Given the description of an element on the screen output the (x, y) to click on. 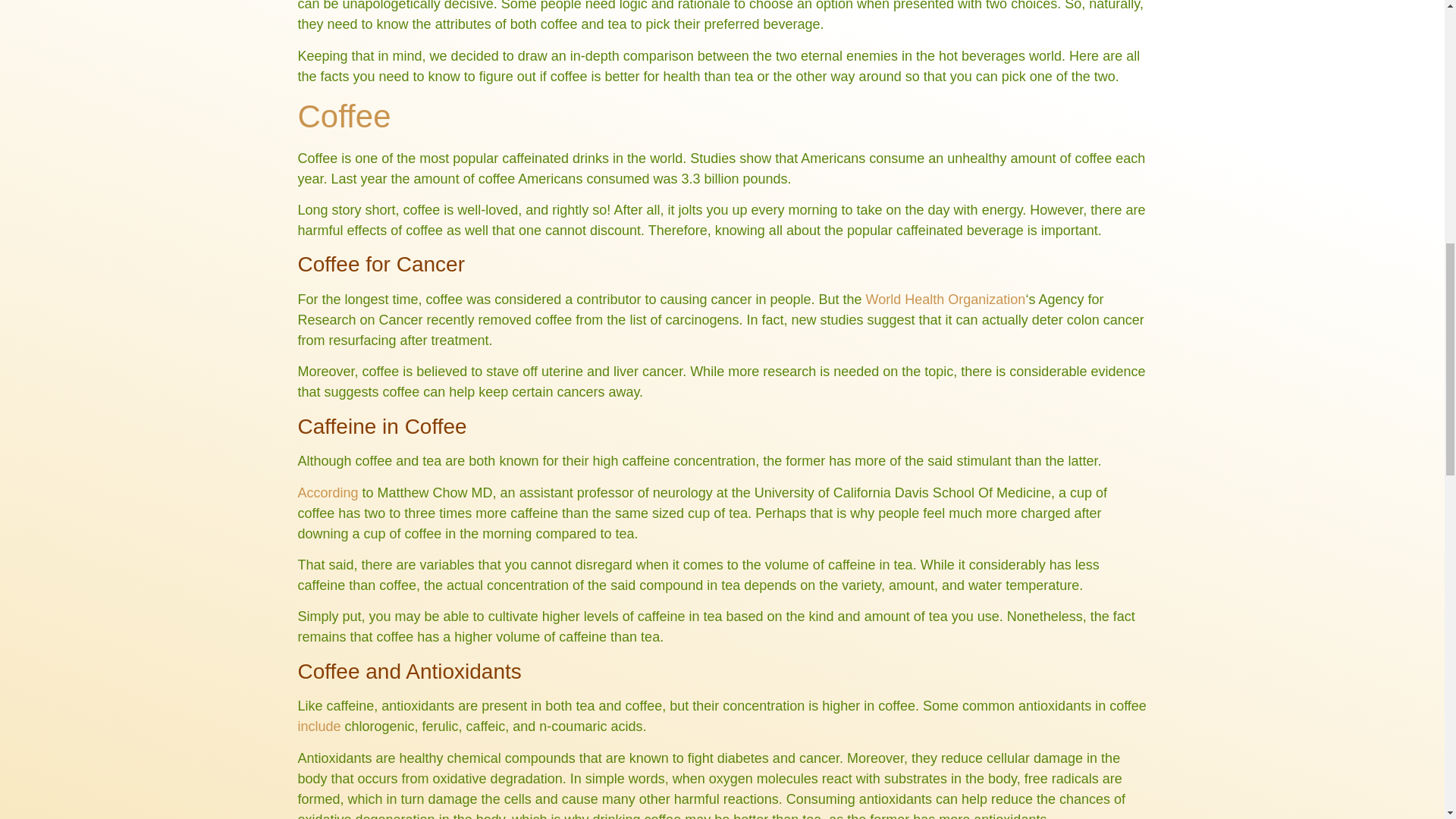
According (327, 492)
World Health Organization (946, 299)
include (318, 726)
